Given the description of an element on the screen output the (x, y) to click on. 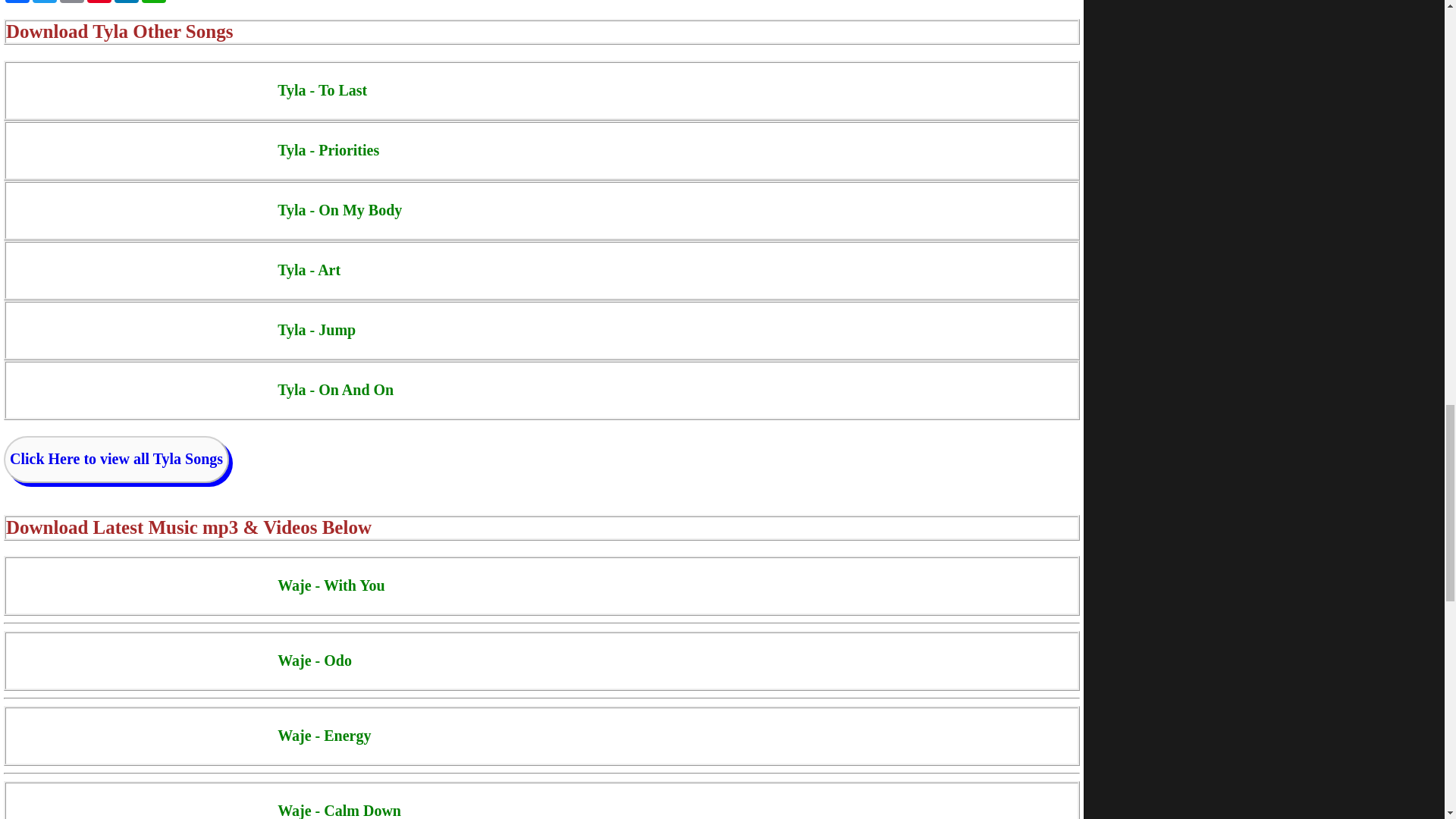
LinkedIn (126, 1)
Twitter (44, 1)
Pinterest (99, 1)
Facebook (17, 1)
WhatsApp (153, 1)
Click Here to view all Tyla Songs (116, 459)
Email (71, 1)
Click Here to view all Tyla Songs (116, 458)
